Given the description of an element on the screen output the (x, y) to click on. 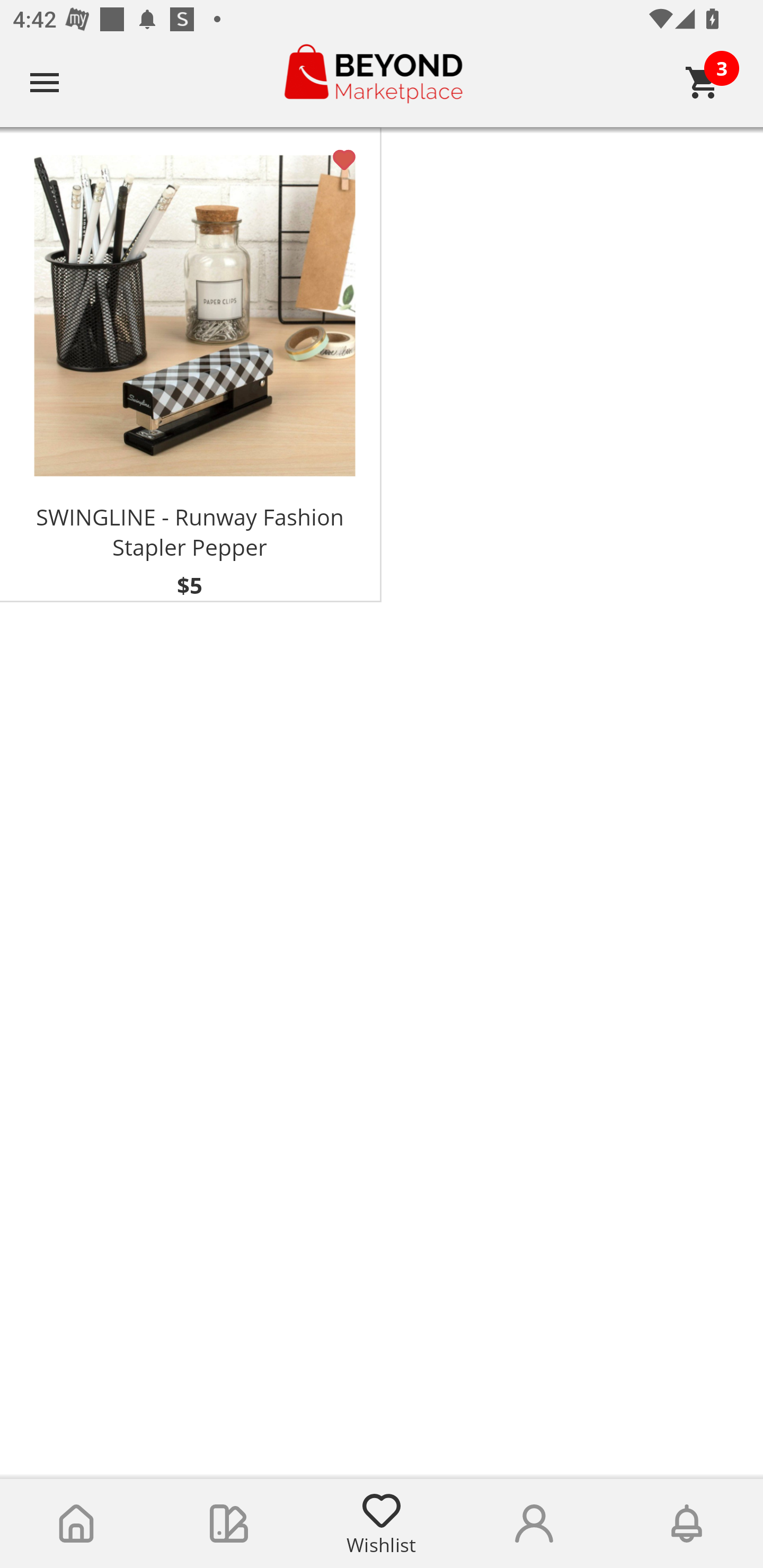
Navigate up (44, 82)
SWINGLINE - Runway Fashion Stapler Pepper $5 (190, 365)
Home (76, 1523)
Collections (228, 1523)
Account (533, 1523)
Notifications (686, 1523)
